Given the description of an element on the screen output the (x, y) to click on. 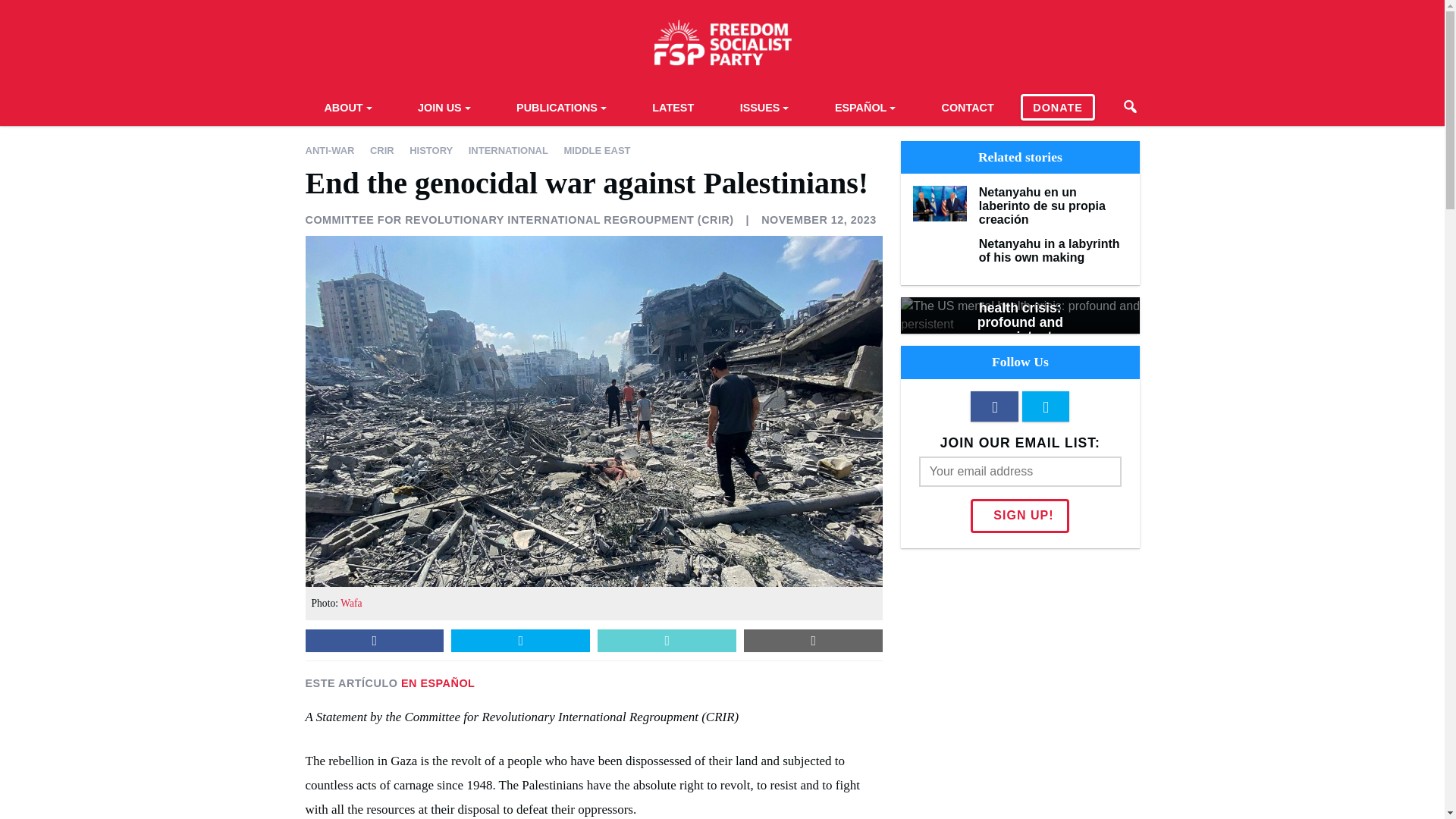
Join Us (443, 106)
ISSUES (764, 106)
Publications (561, 106)
Sign up! (1019, 515)
PUBLICATIONS (561, 106)
About (347, 106)
LATEST (673, 106)
JOIN US (443, 106)
ABOUT (347, 106)
